Given the description of an element on the screen output the (x, y) to click on. 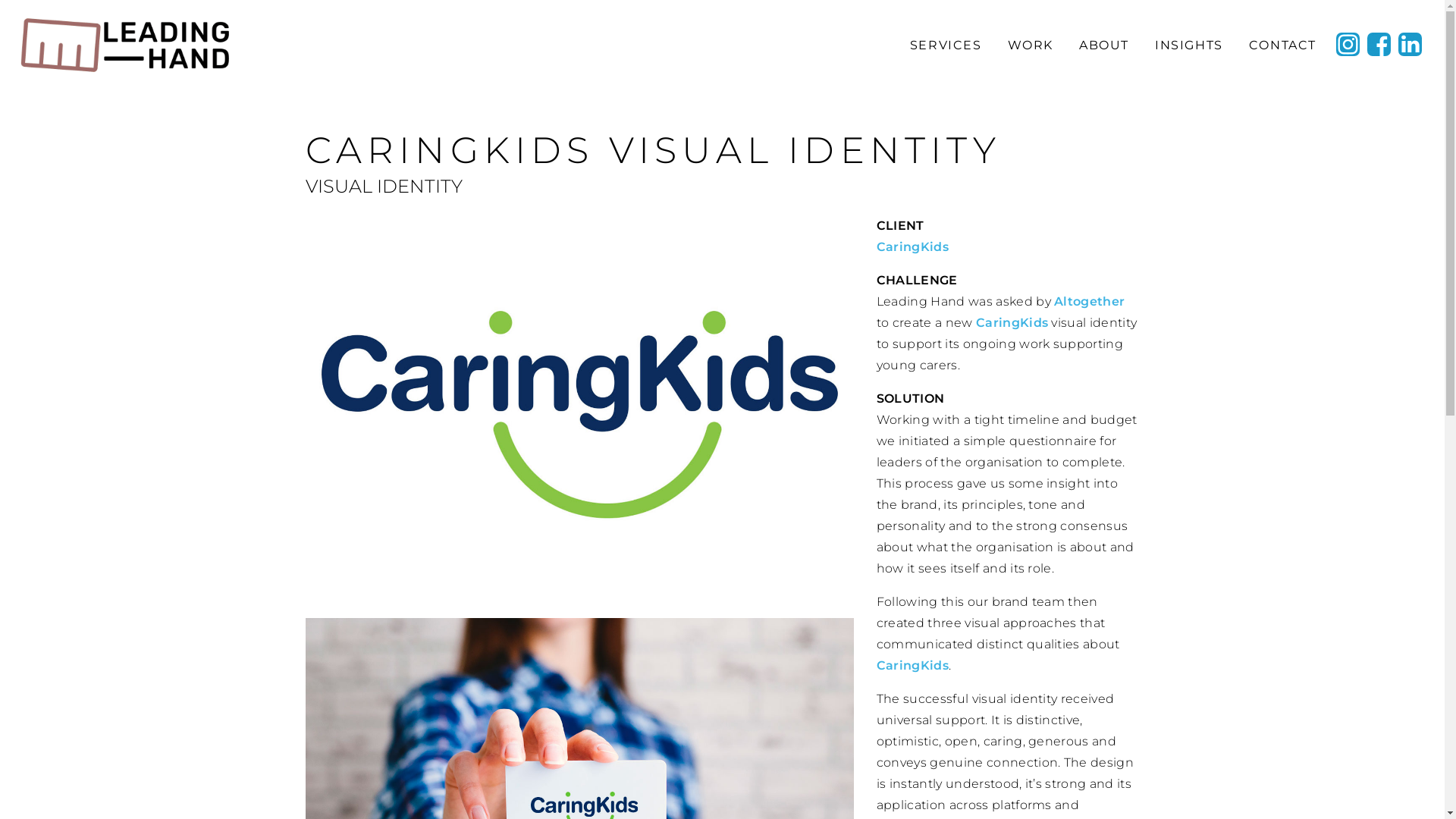
WORK Element type: text (1029, 45)
CaringKids Element type: text (912, 666)
CaringKids Element type: text (1011, 323)
INSIGHTS Element type: text (1188, 45)
Altogether Element type: text (1089, 302)
CaringKids Element type: text (912, 247)
ABOUT Element type: text (1103, 45)
SERVICES Element type: text (945, 45)
CONTACT Element type: text (1281, 45)
